Given the description of an element on the screen output the (x, y) to click on. 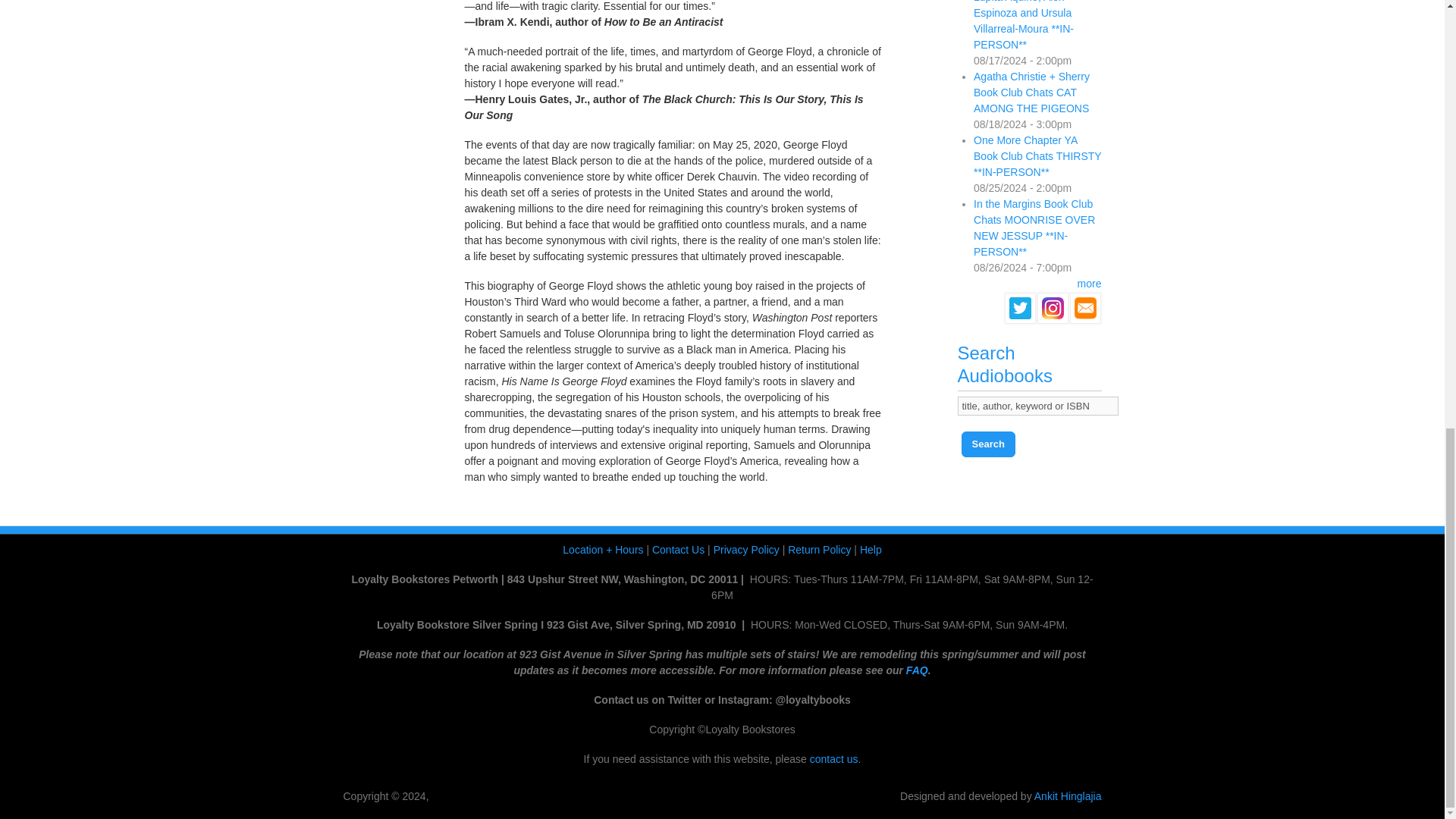
title, author, keyword or ISBN (1037, 405)
more (1089, 283)
Search (987, 444)
Enter title, author, keyword or ISBN. (1037, 405)
